Given the description of an element on the screen output the (x, y) to click on. 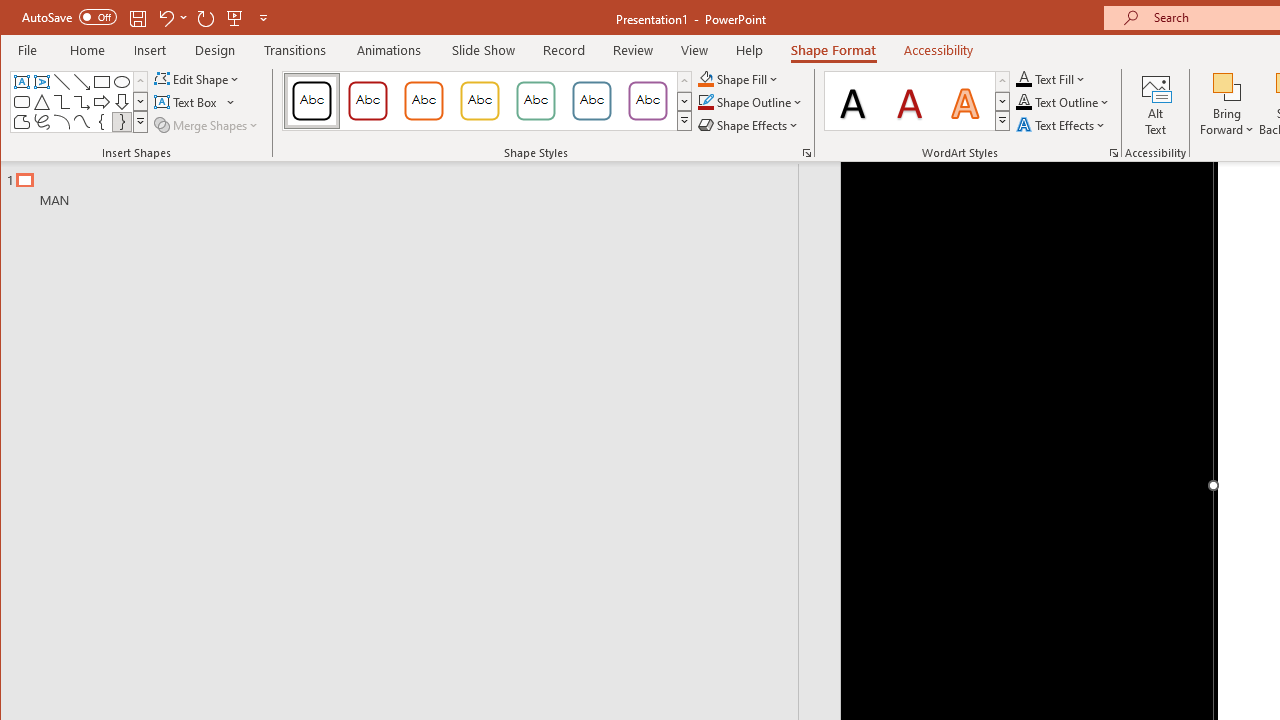
Colored Outline - Green, Accent 4 (536, 100)
Edit Shape (198, 78)
Draw Horizontal Text Box (187, 101)
